Given the description of an element on the screen output the (x, y) to click on. 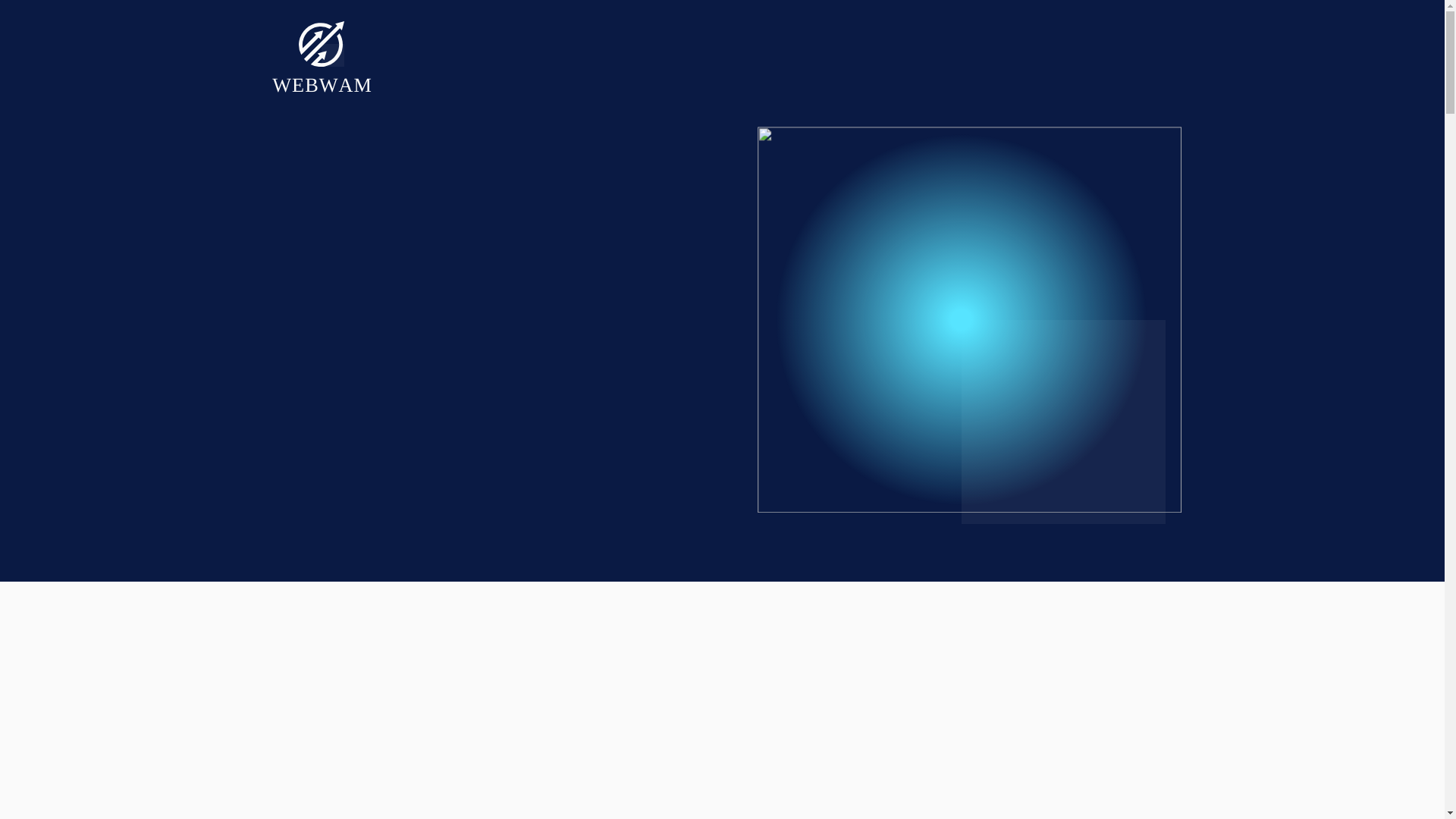
WEBWAM (322, 85)
